Given the description of an element on the screen output the (x, y) to click on. 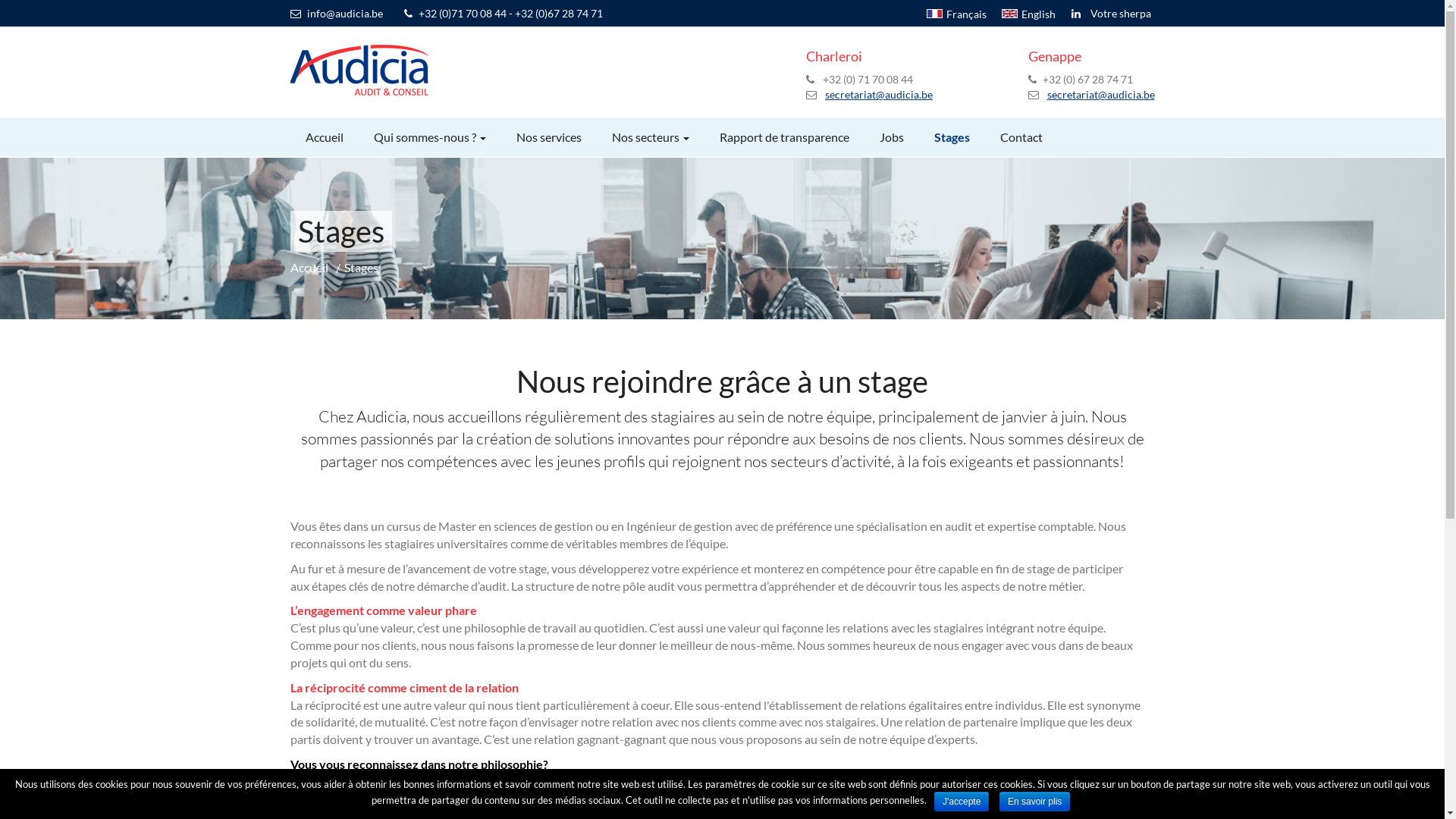
Qui sommes-nous ? Element type: text (428, 137)
Accueil Element type: text (323, 137)
secretariat@audicia.be Element type: text (878, 93)
Nos services Element type: text (548, 137)
Jobs Element type: text (891, 137)
English Element type: text (1027, 13)
info@audicia.be Element type: text (344, 12)
J'accepte Element type: text (961, 801)
Rapport de transparence Element type: text (783, 137)
Stages Element type: text (952, 137)
Accueil Element type: text (310, 267)
Votre sherpa Element type: text (1120, 12)
Nos secteurs Element type: text (649, 137)
secretariat@audicia.be Element type: text (1100, 93)
En savoir plis Element type: text (1034, 801)
Contact Element type: text (1020, 137)
